Given the description of an element on the screen output the (x, y) to click on. 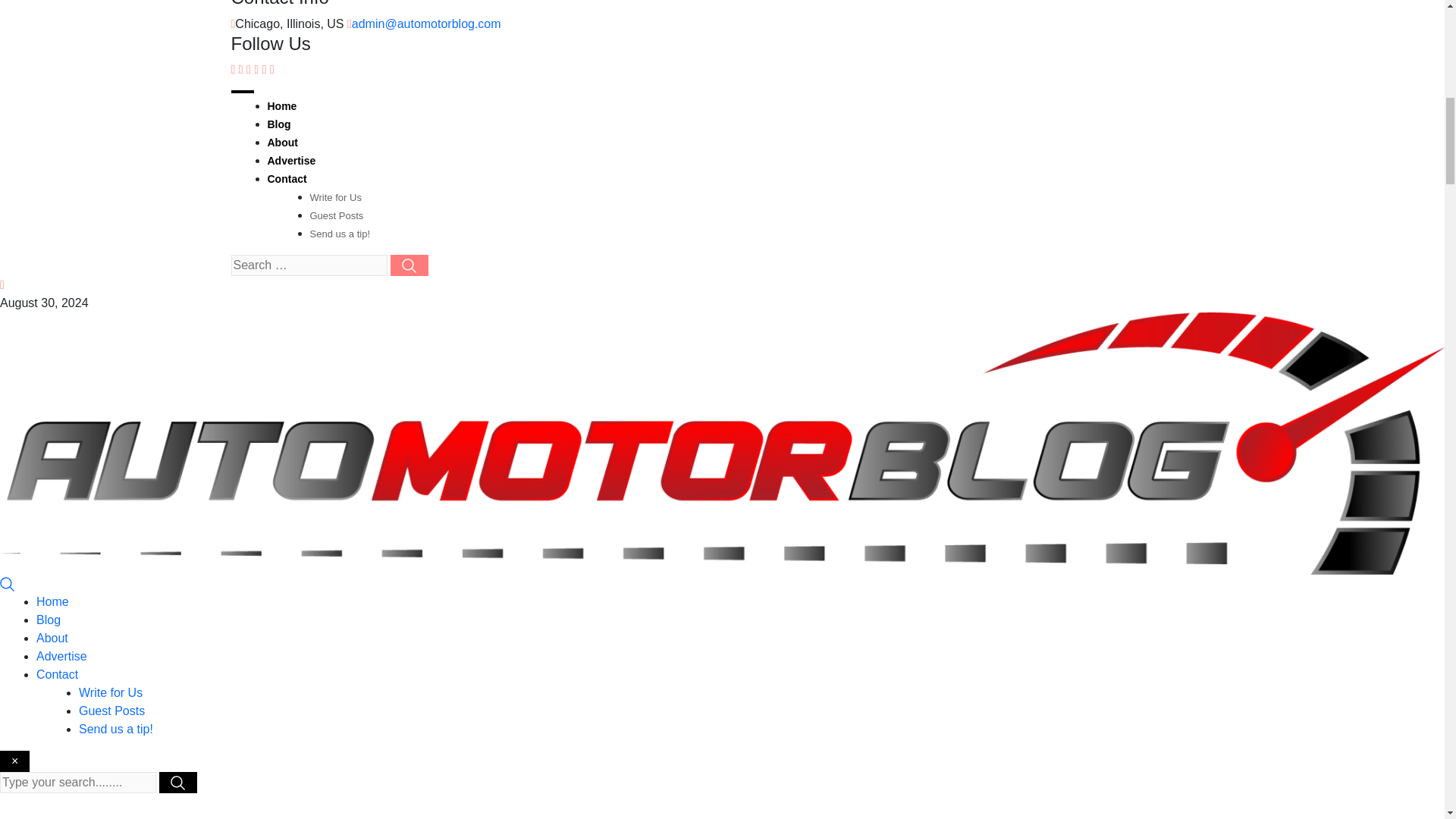
Home (52, 601)
About (52, 637)
Home (281, 105)
About (281, 142)
Contact (57, 674)
Send us a tip! (338, 233)
Advertise (61, 656)
Blog (48, 619)
Go to the Renault Category archives. (651, 818)
Search (7, 583)
